Given the description of an element on the screen output the (x, y) to click on. 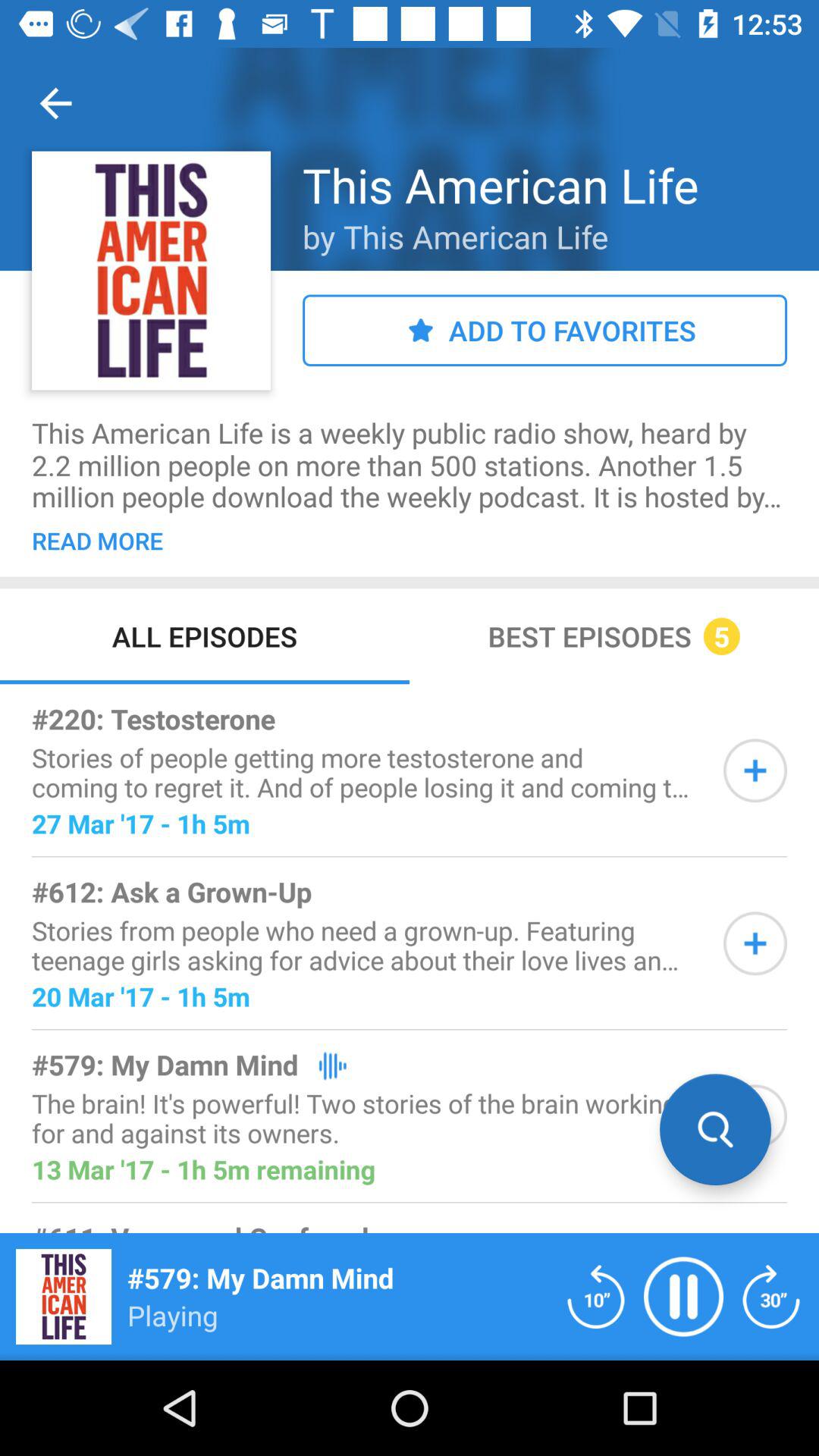
searching the wanted information (755, 1116)
